Given the description of an element on the screen output the (x, y) to click on. 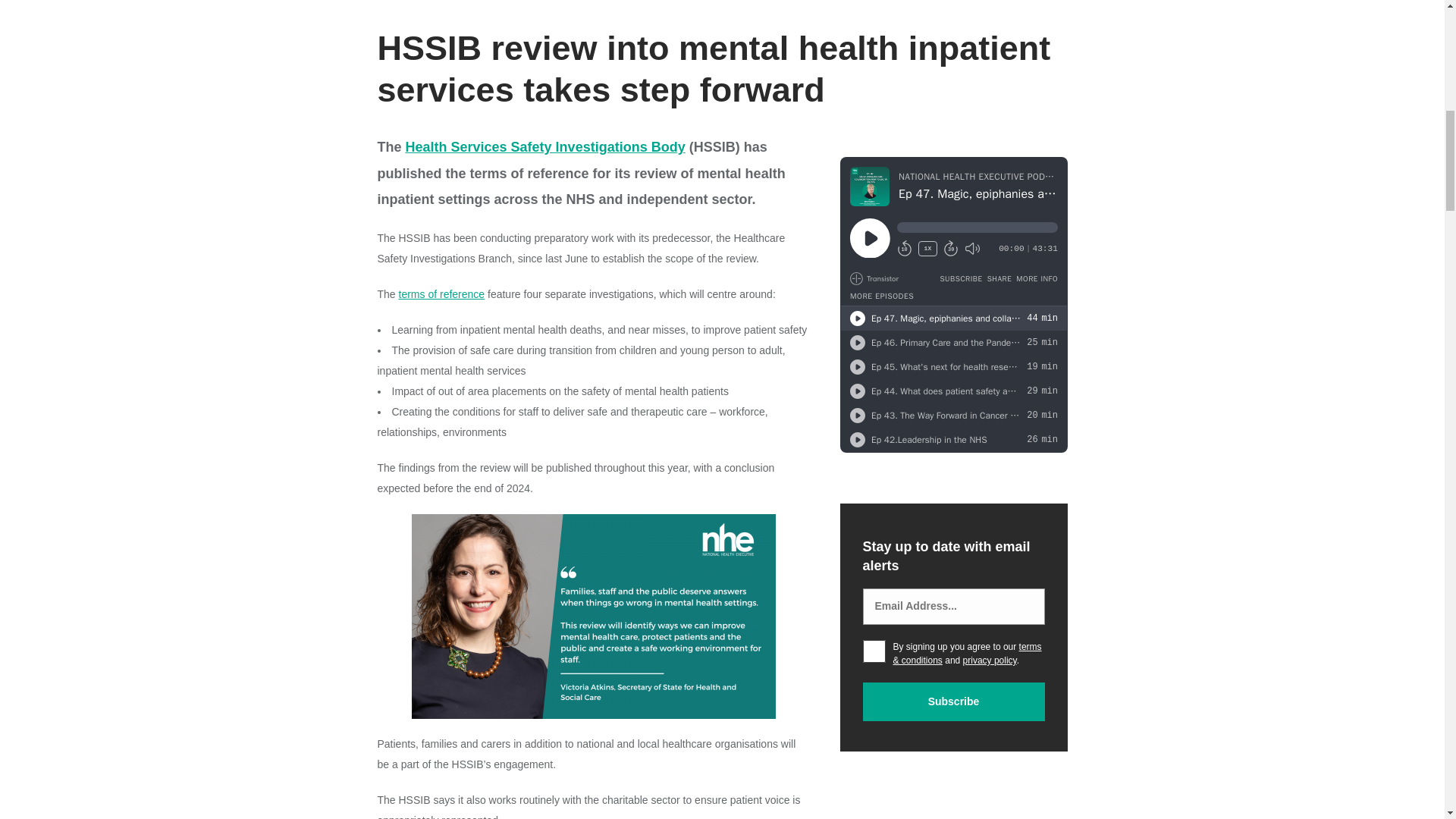
Subscribe (954, 701)
